Given the description of an element on the screen output the (x, y) to click on. 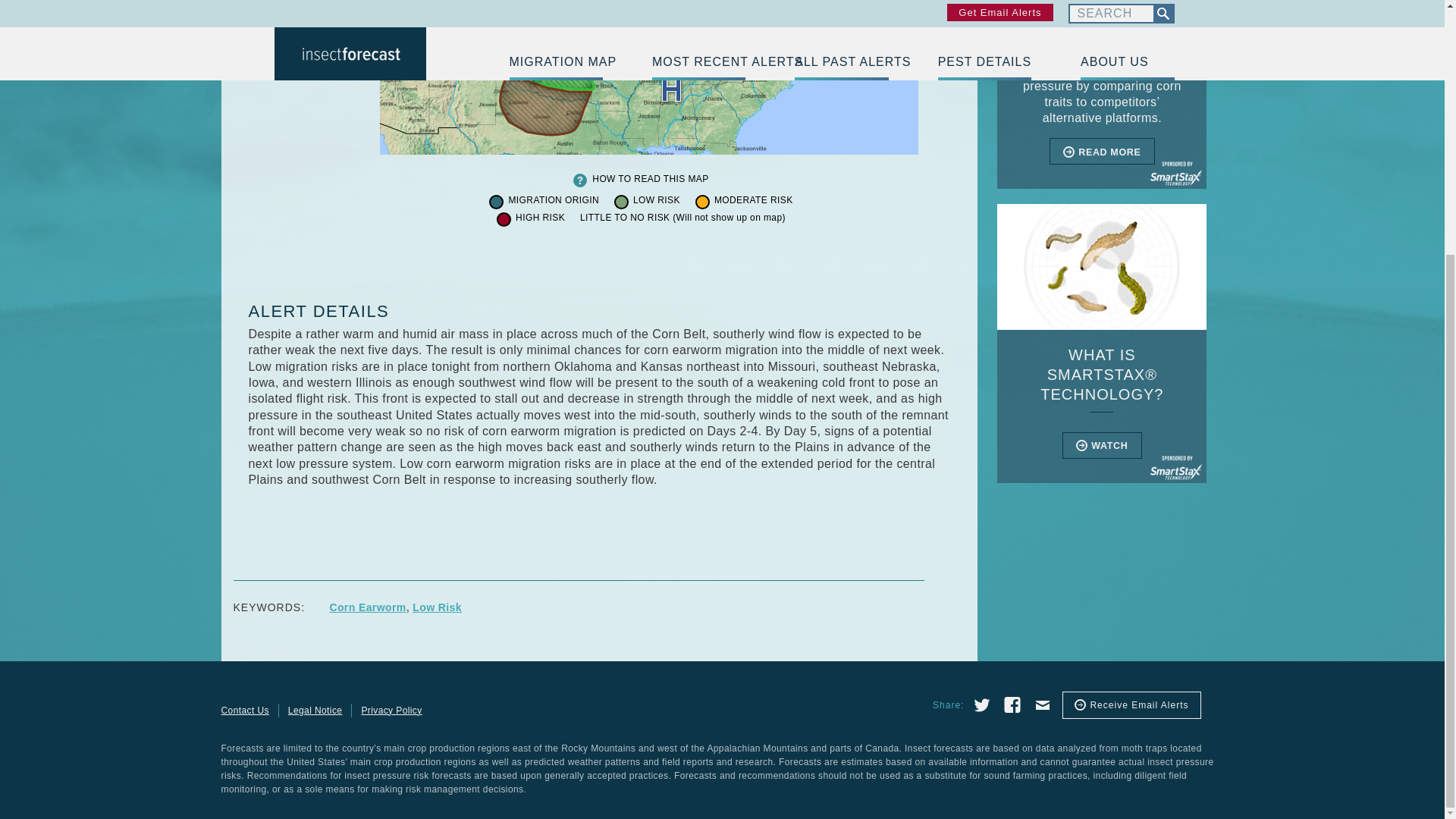
Receive Email Alerts (1130, 705)
Legal Notice (315, 710)
Contact Us (249, 710)
Corn Earworm (367, 607)
Low Risk (436, 607)
Email (1039, 702)
Corn Trait Comparison Tool (1102, 94)
Legal Notice (315, 710)
Get Alerts (1130, 705)
MIGRATION ORIGIN (553, 200)
Privacy Policy (391, 710)
Facebook (1009, 702)
Privacy Policy (391, 710)
Twitter (978, 702)
HIGH RISK (539, 218)
